Given the description of an element on the screen output the (x, y) to click on. 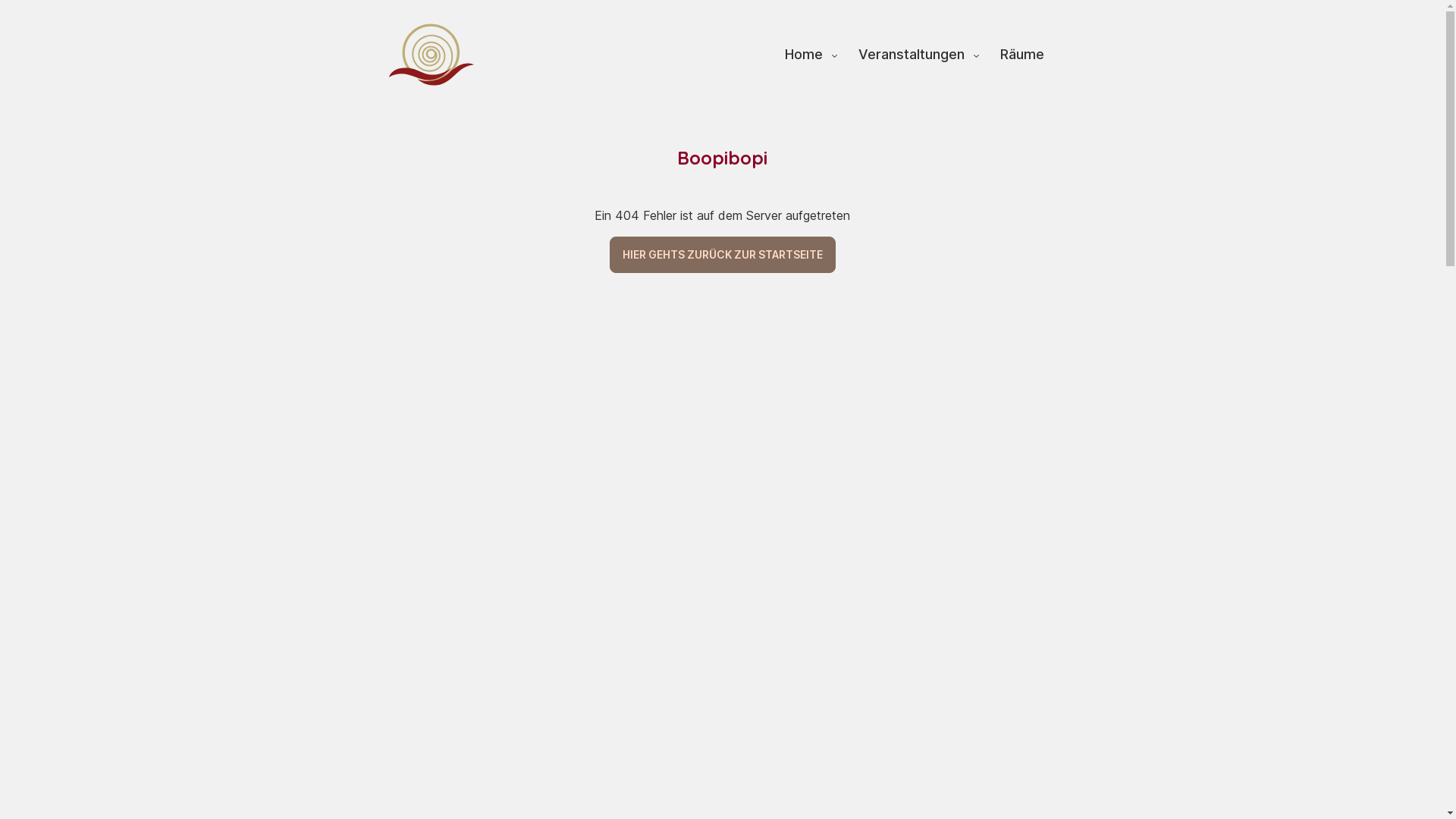
Veranstaltungen Element type: text (920, 54)
Home Element type: text (811, 54)
